Given the description of an element on the screen output the (x, y) to click on. 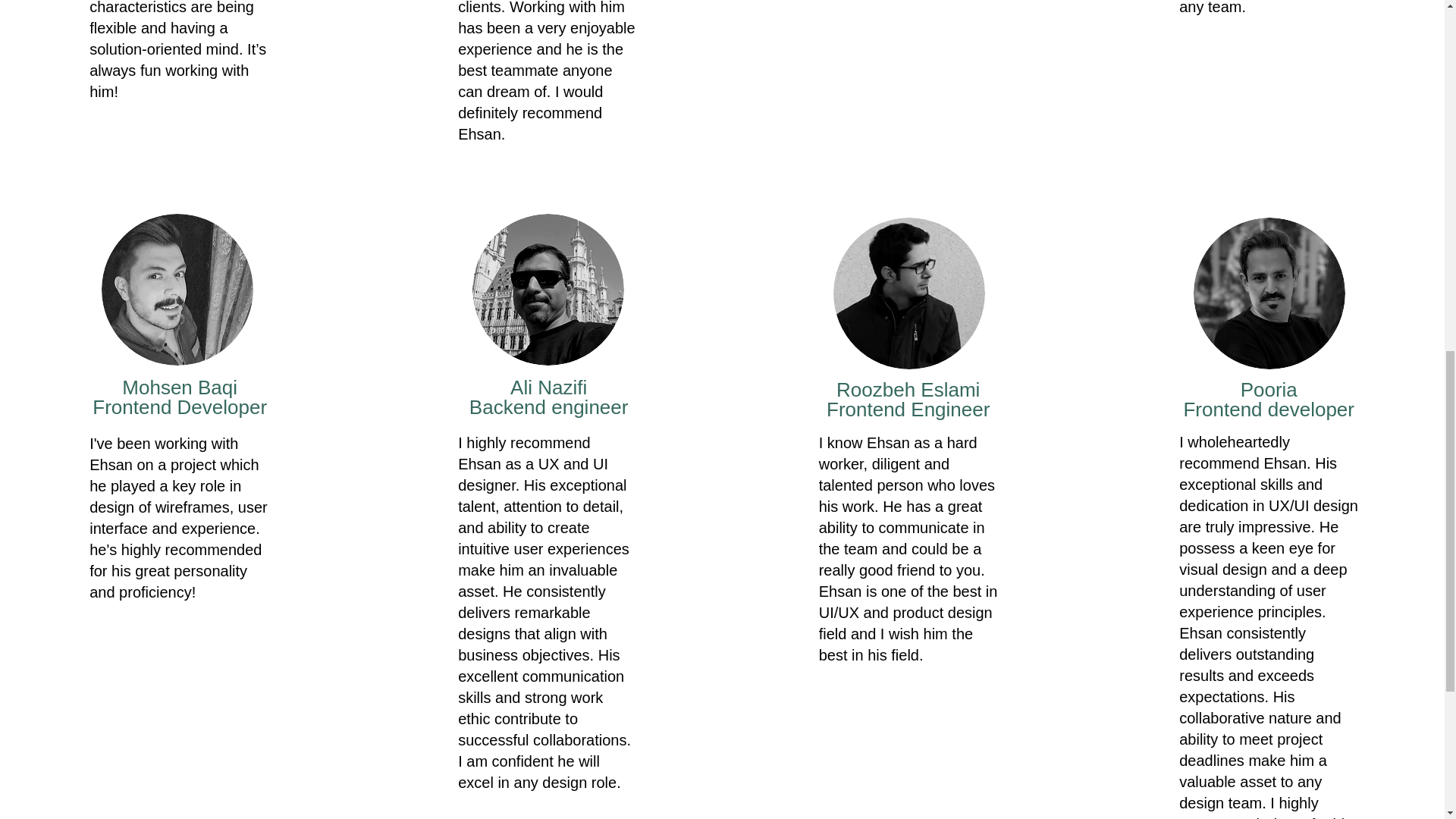
GettyImages-124893619.jpg (547, 289)
GettyImages-145680711.jpg (908, 293)
GettyImages-145680711.jpg (1269, 293)
GettyImages-535587703.jpg (177, 289)
